Given the description of an element on the screen output the (x, y) to click on. 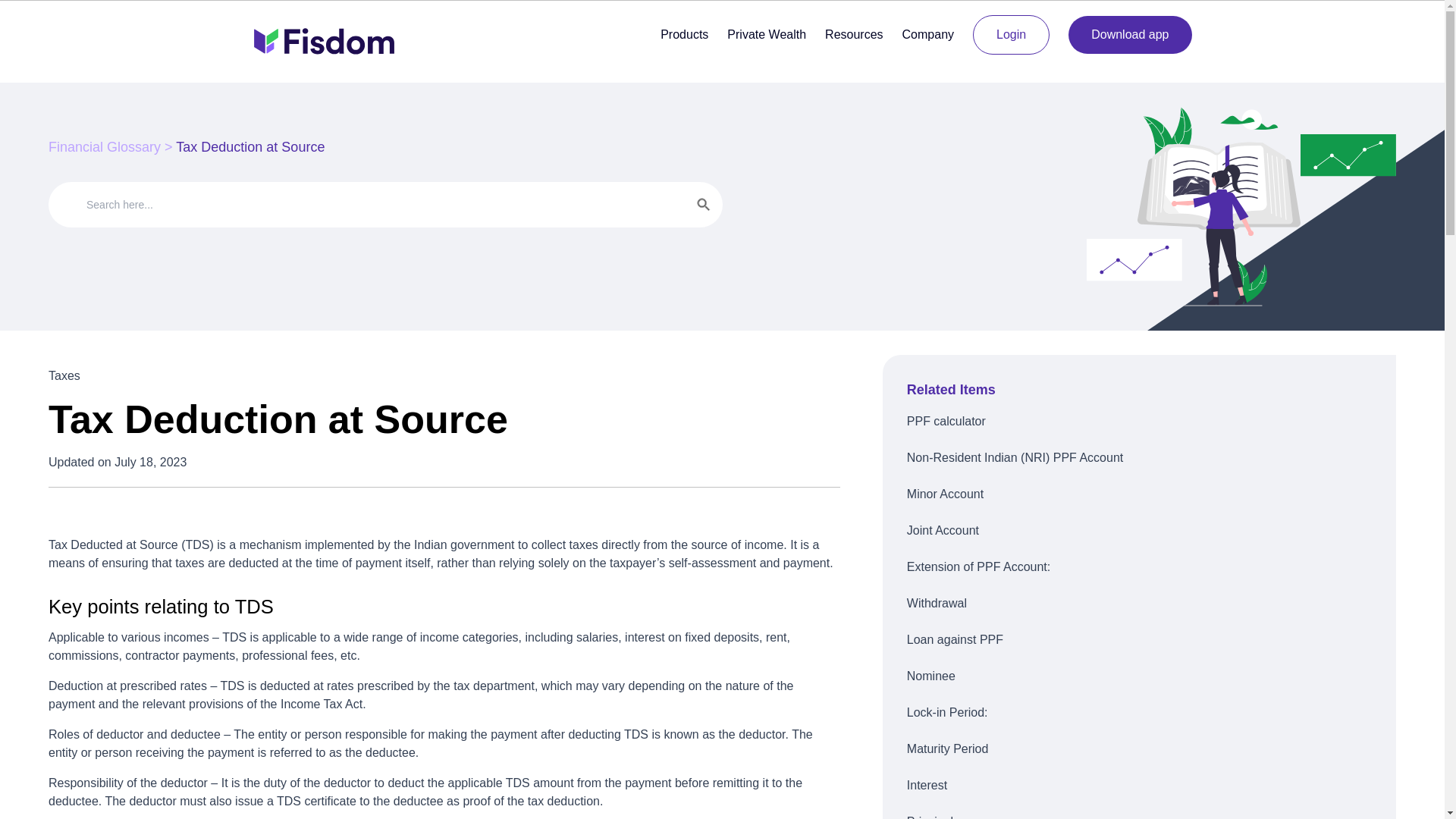
Taxes (64, 375)
Login (1010, 34)
Private Wealth (766, 33)
Company (927, 33)
Loan against PPF (1139, 639)
Nominee (1139, 676)
Financial Glossary (104, 147)
Download app (1129, 34)
Withdrawal (1139, 603)
Interest (1139, 785)
